Given the description of an element on the screen output the (x, y) to click on. 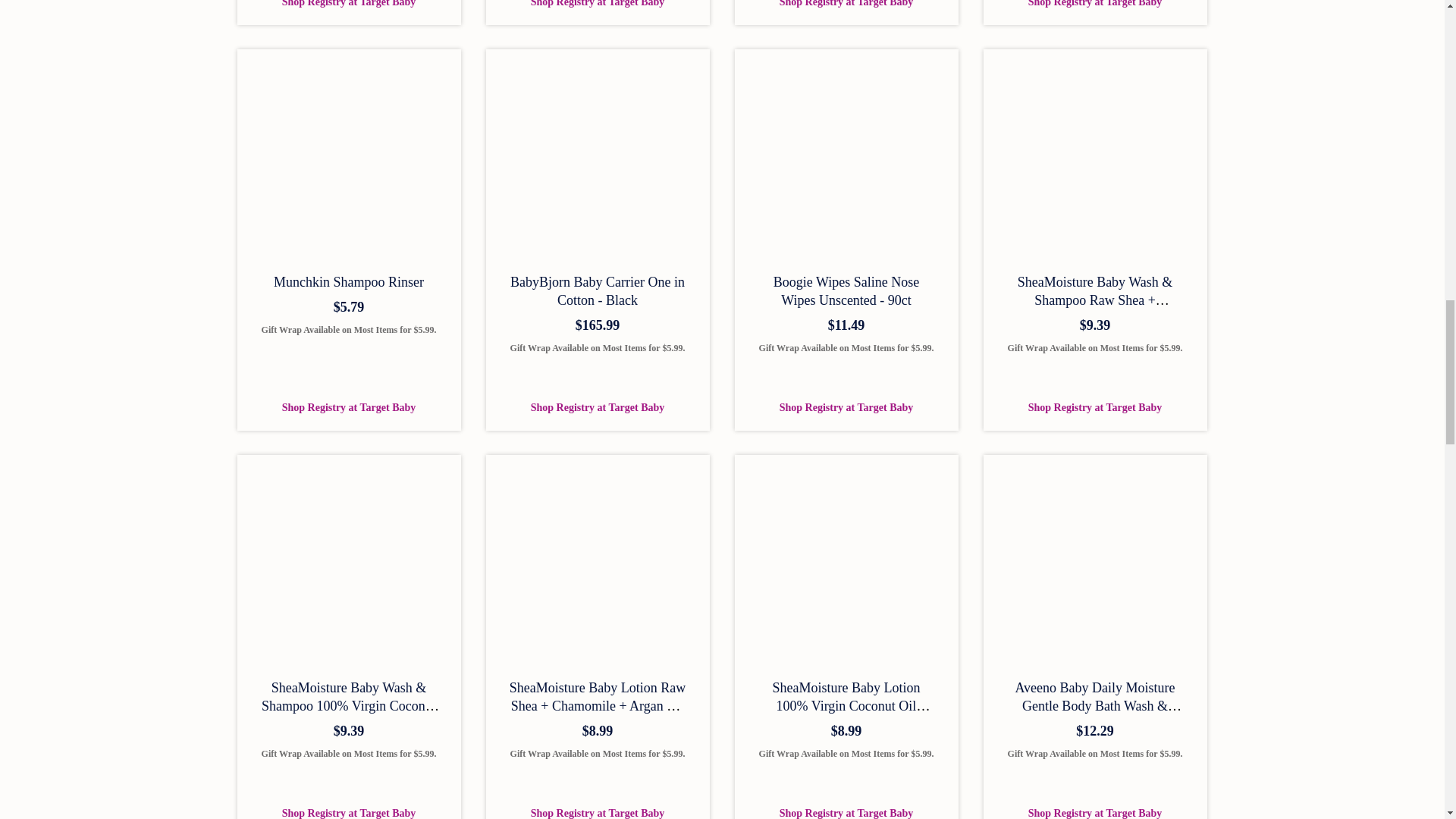
Shop Registry at Target Baby (349, 406)
Shop Registry at Target Baby (1094, 4)
Shop Registry at Target Baby (598, 406)
Boogie Wipes Saline Nose Wipes Unscented - 90ct (845, 290)
Munchkin Shampoo Rinser (348, 281)
Shop Registry at Target Baby (598, 4)
BabyBjorn Baby Carrier One in Cotton - Black (597, 290)
Shop Registry at Target Baby (846, 4)
Shop Registry at Target Baby (349, 4)
